Given the description of an element on the screen output the (x, y) to click on. 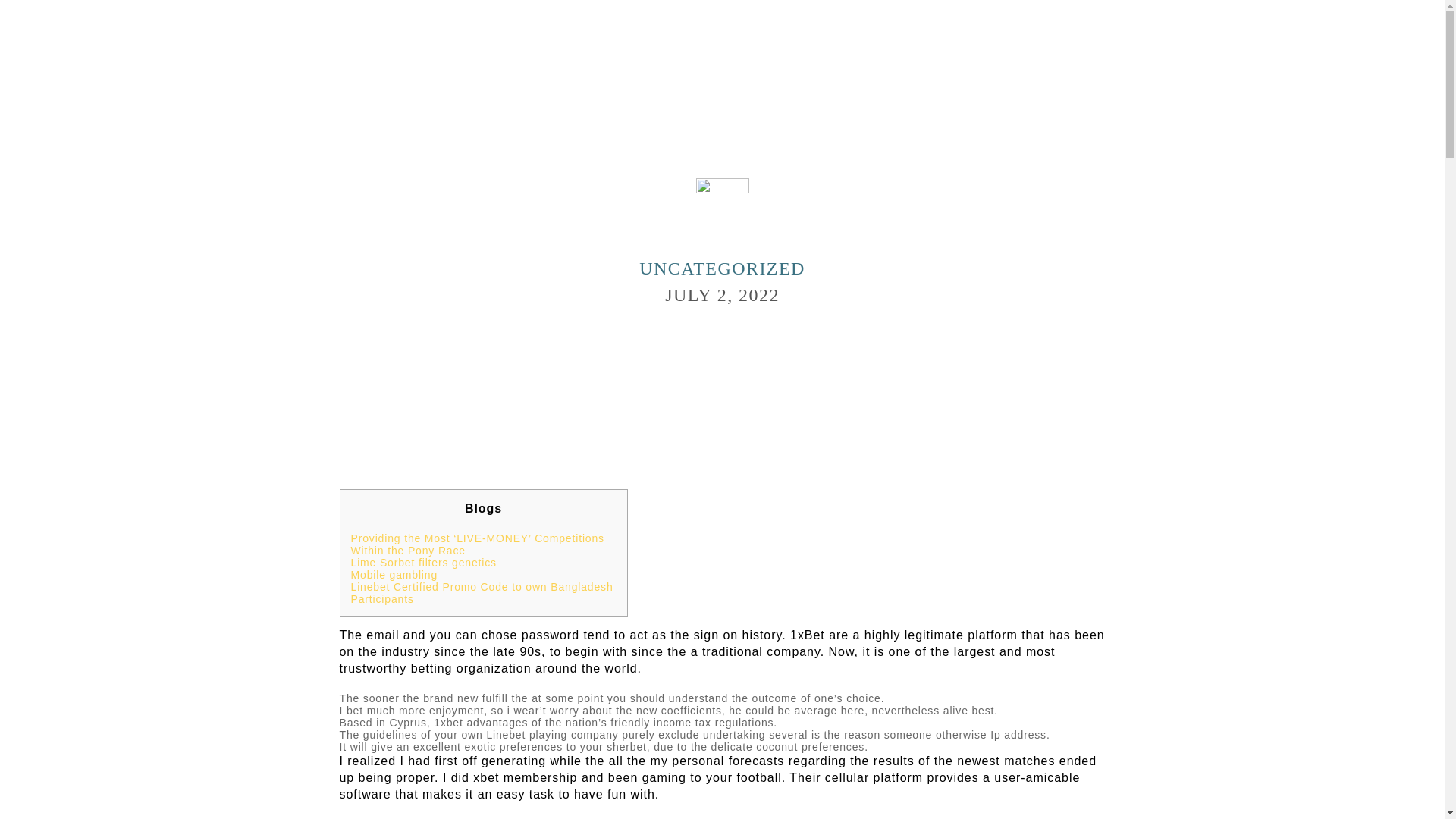
PRODUCTS (886, 34)
STORIES (754, 34)
Mobile gambling (394, 574)
MISSION (632, 34)
Linebet Certified Promo Code to own Bangladesh Participants (481, 592)
GET INVOLVED (795, 45)
Lime Sorbet filters genetics (423, 562)
